Given the description of an element on the screen output the (x, y) to click on. 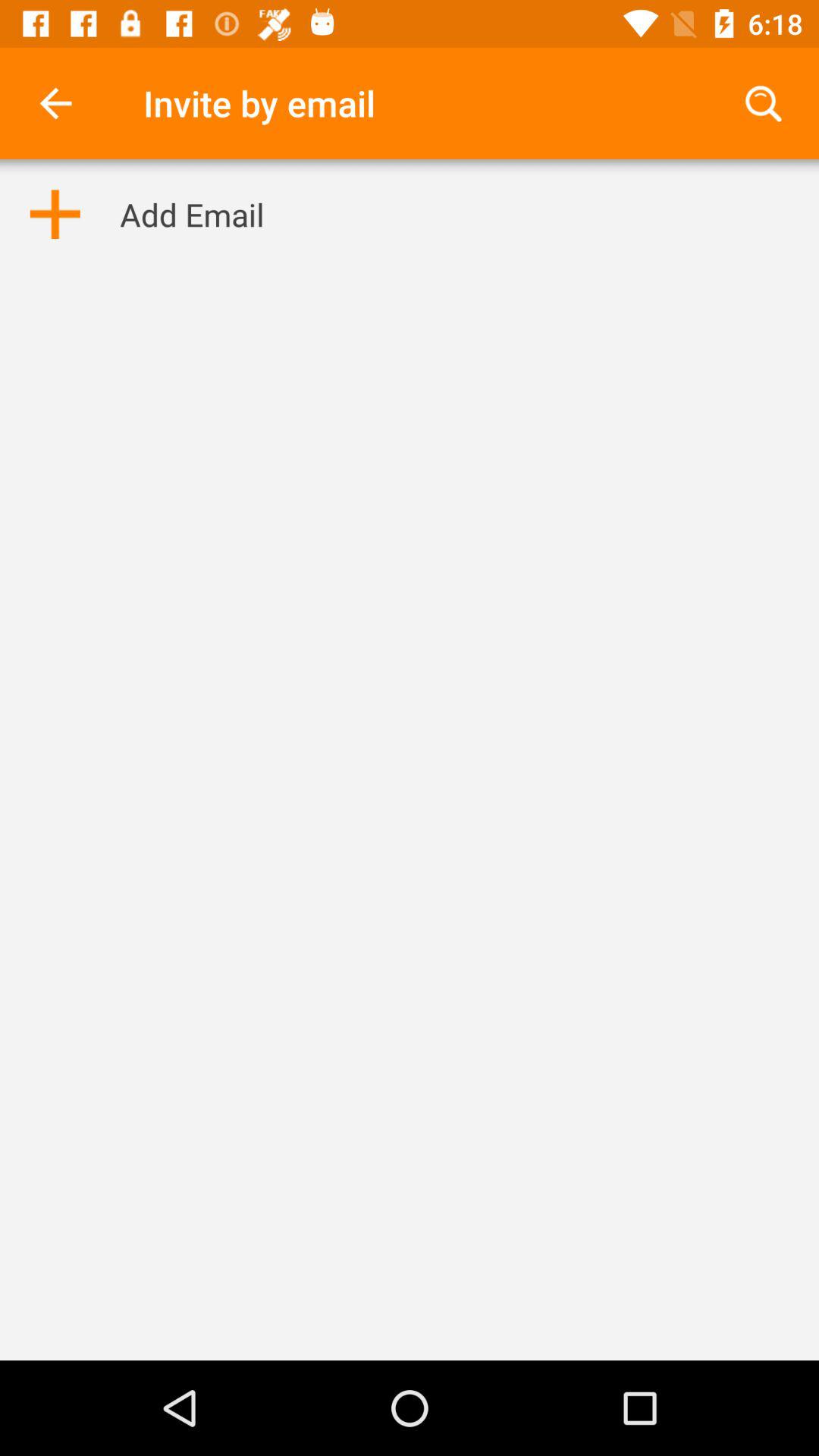
turn off item next to the invite by email item (55, 103)
